Given the description of an element on the screen output the (x, y) to click on. 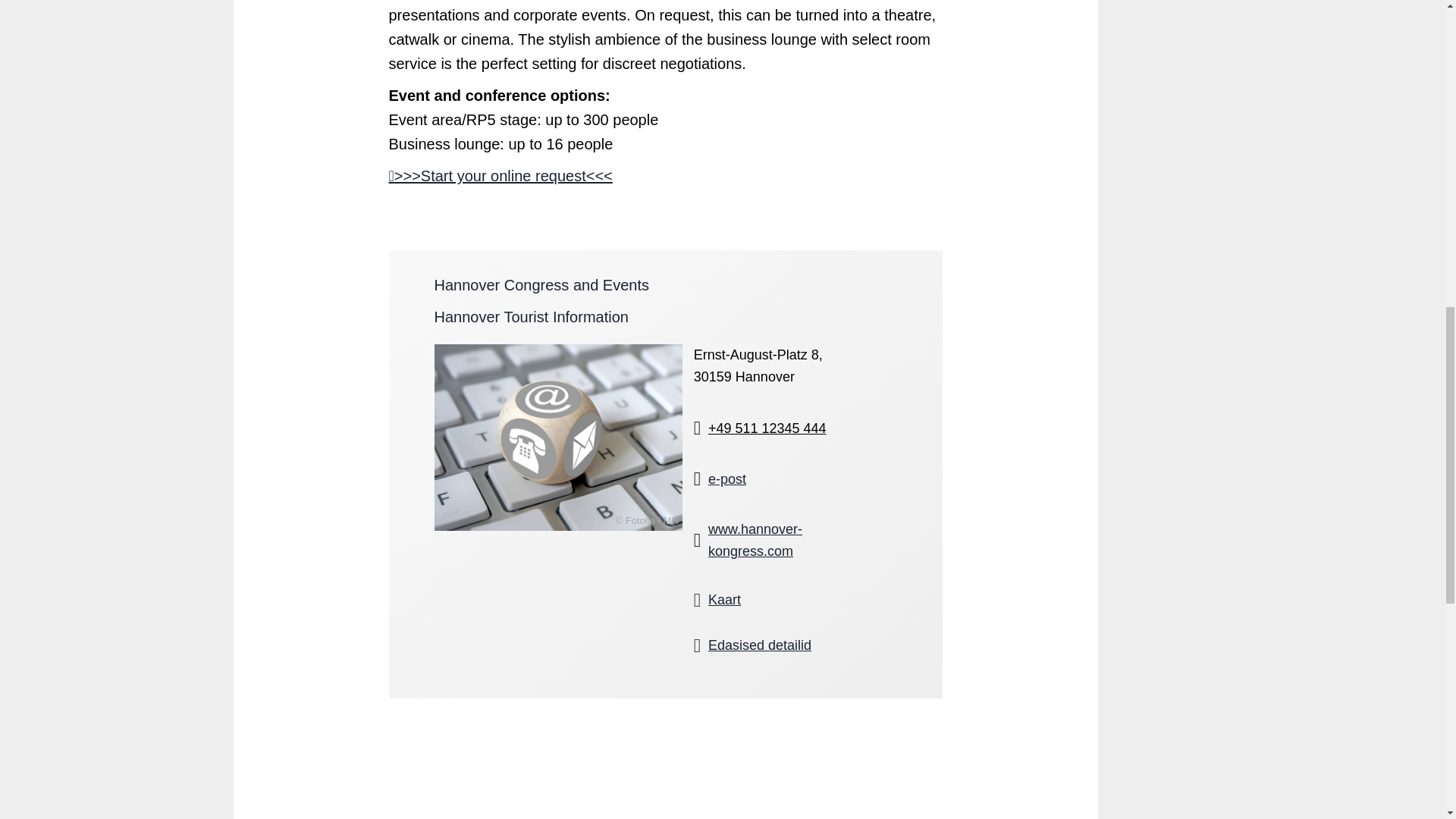
Hannover Congress and Events  (775, 644)
Hannover Congress and Events  (541, 284)
Hannover Tourist Information  (530, 316)
